Given the description of an element on the screen output the (x, y) to click on. 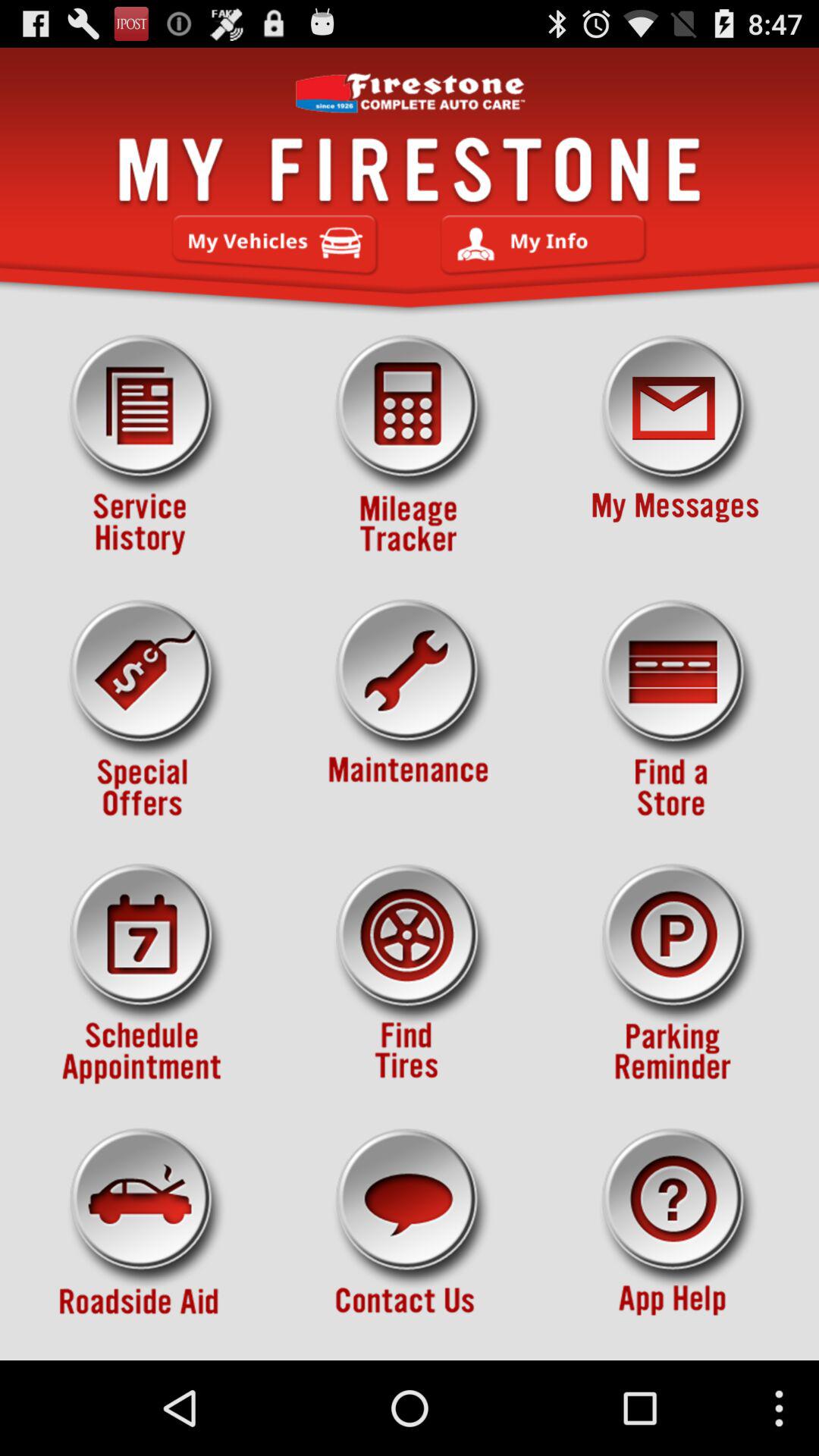
find tires (409, 974)
